Given the description of an element on the screen output the (x, y) to click on. 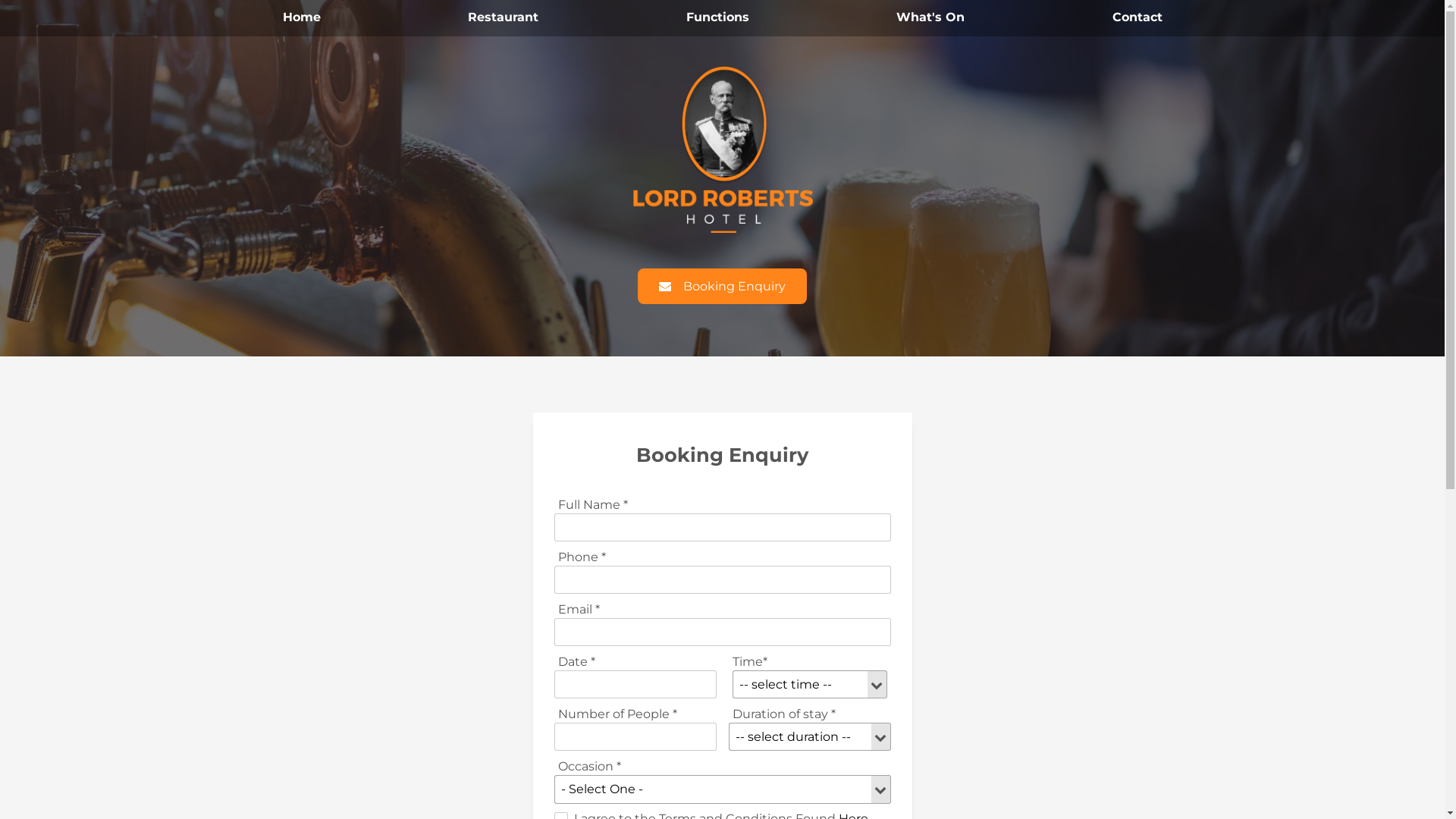
Contact Element type: text (1136, 18)
What's On Element type: text (930, 18)
Home Element type: text (300, 18)
Booking Enquiry Element type: text (721, 286)
Functions Element type: text (716, 18)
Restaurant Element type: text (503, 18)
